Given the description of an element on the screen output the (x, y) to click on. 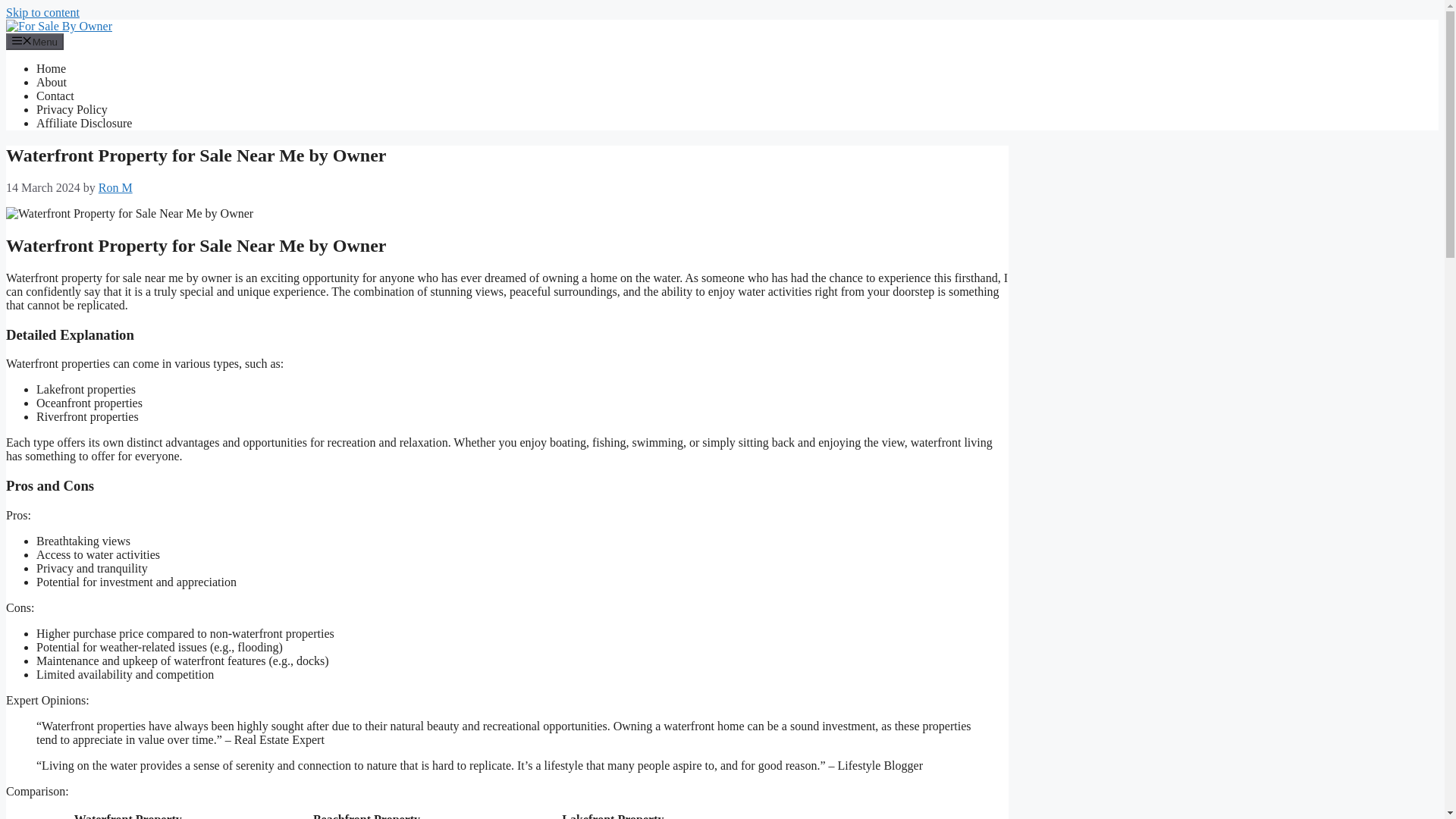
Skip to content (42, 11)
Home (50, 68)
Contact (55, 95)
View all posts by Ron M (115, 187)
About (51, 82)
Privacy Policy (71, 109)
Menu (34, 41)
Affiliate Disclosure (84, 123)
Ron M (115, 187)
Skip to content (42, 11)
